Given the description of an element on the screen output the (x, y) to click on. 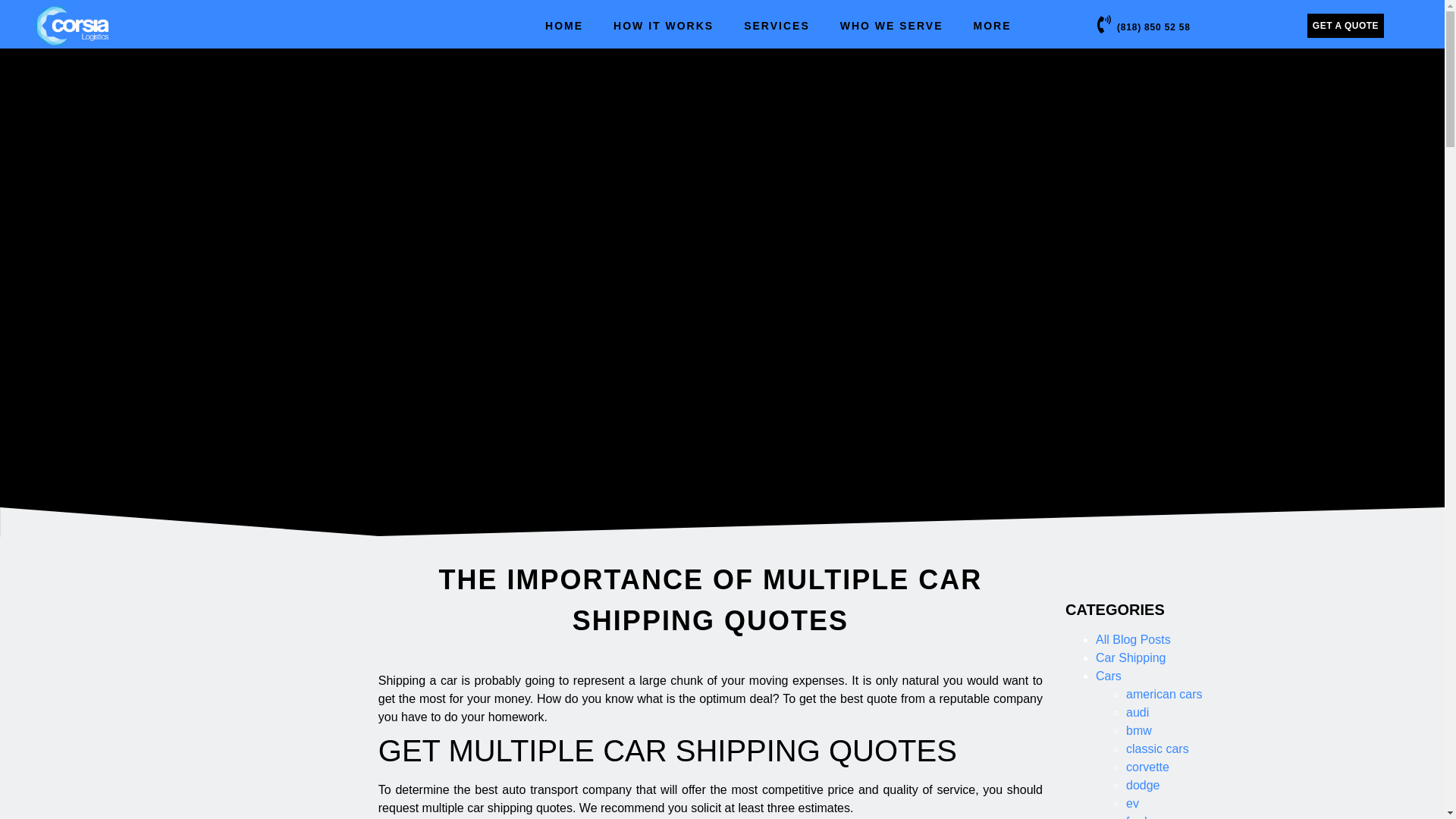
HOME (563, 26)
HOW IT WORKS (663, 26)
WHO WE SERVE (891, 26)
SERVICES (777, 26)
MORE (992, 26)
